Given the description of an element on the screen output the (x, y) to click on. 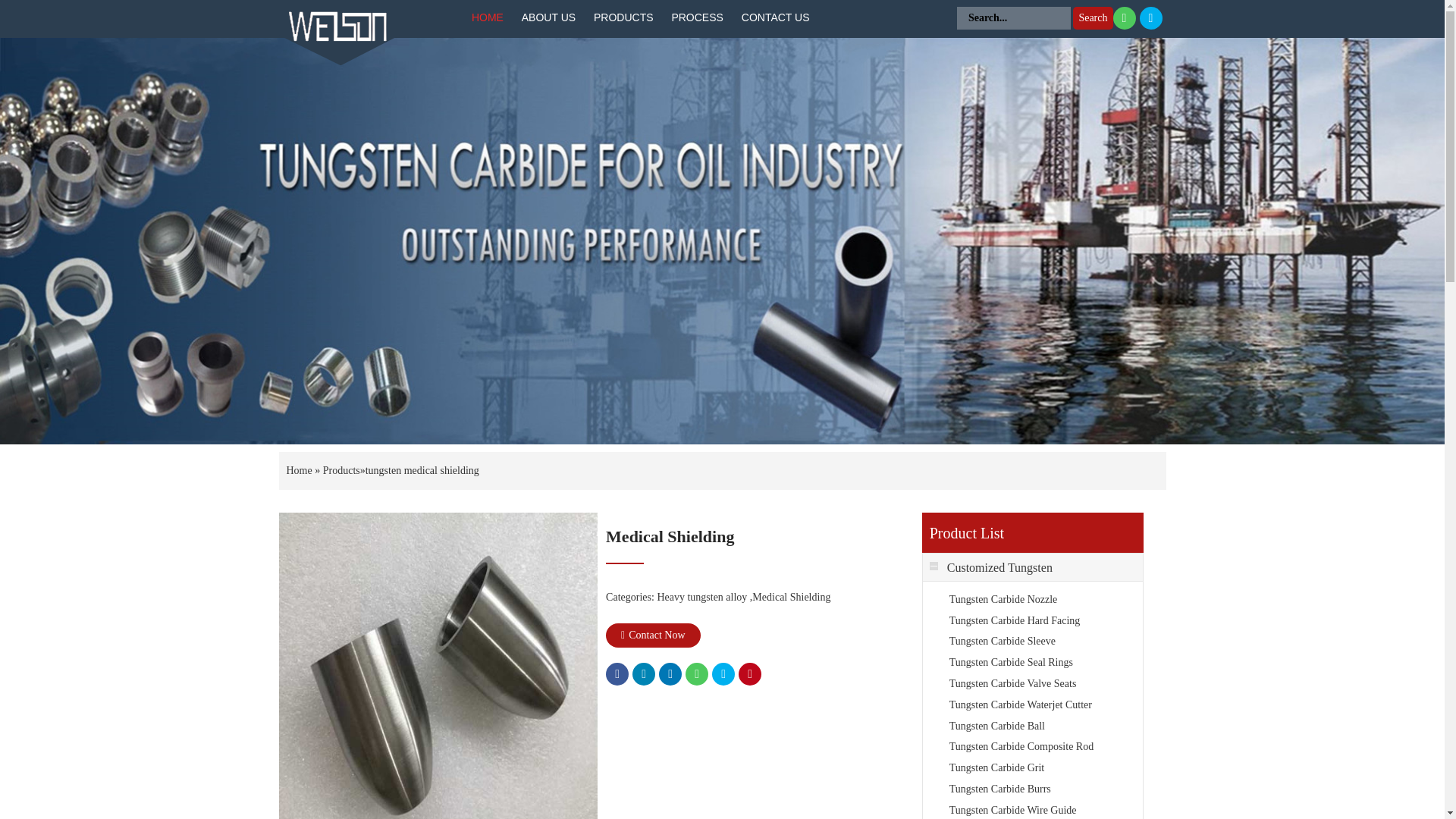
whatsApp (696, 673)
linkedin (670, 673)
PRODUCTS (623, 17)
HOME (487, 17)
facebook (616, 673)
Search (1092, 17)
ABOUT US (548, 17)
pinterest (749, 673)
skype (723, 673)
Search (1092, 17)
twitter (643, 673)
skype:colourful.dai (1149, 17)
